Given the description of an element on the screen output the (x, y) to click on. 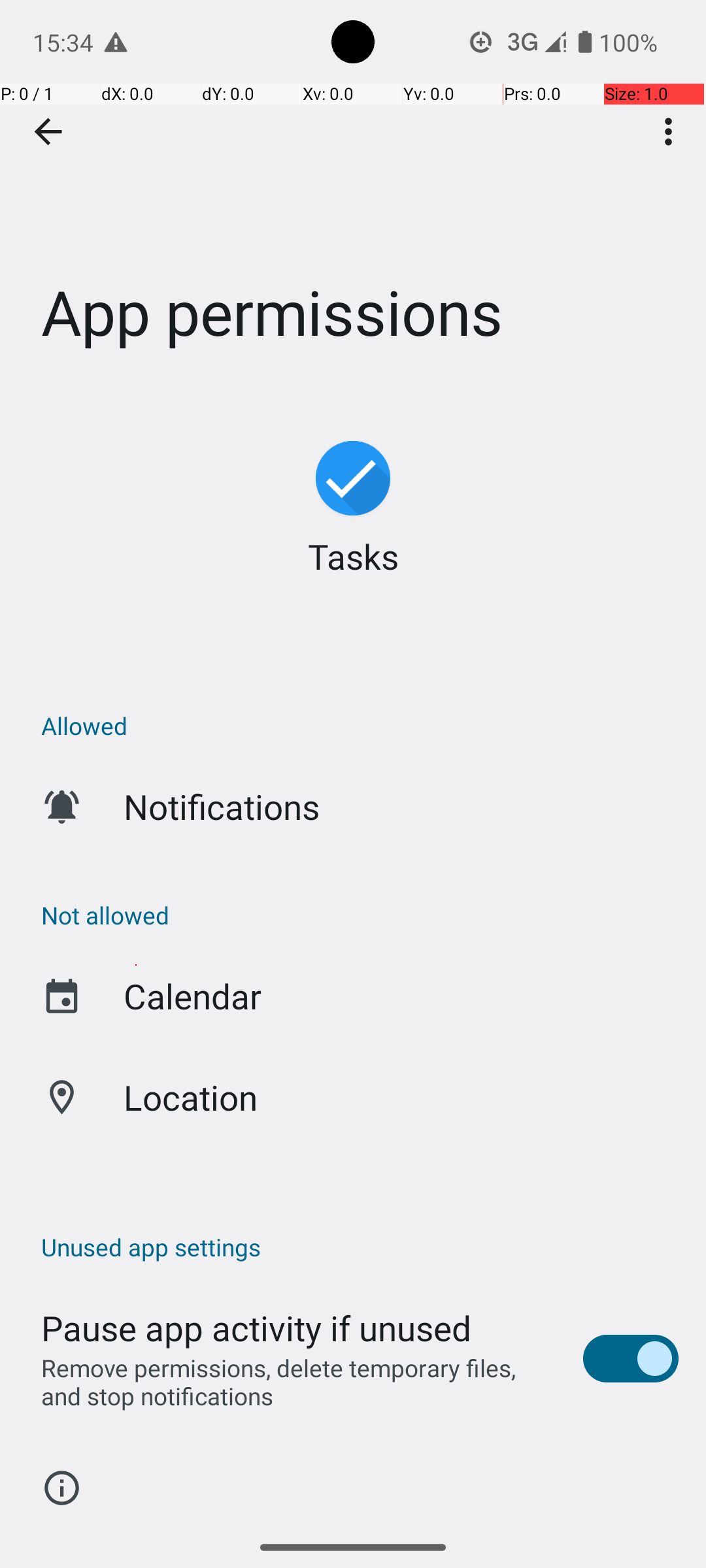
App permissions Element type: android.widget.FrameLayout (353, 195)
Allowed Element type: android.widget.TextView (359, 725)
Not allowed Element type: android.widget.TextView (359, 914)
Unused app settings Element type: android.widget.TextView (359, 1246)
Pause app activity if unused Element type: android.widget.TextView (256, 1327)
Remove permissions, delete temporary files, and stop notifications Element type: android.widget.TextView (298, 1381)
To protect your data, if the app is unused for a few months, the following permissions will be removed: Notifications Element type: android.widget.TextView (359, 1520)
